Given the description of an element on the screen output the (x, y) to click on. 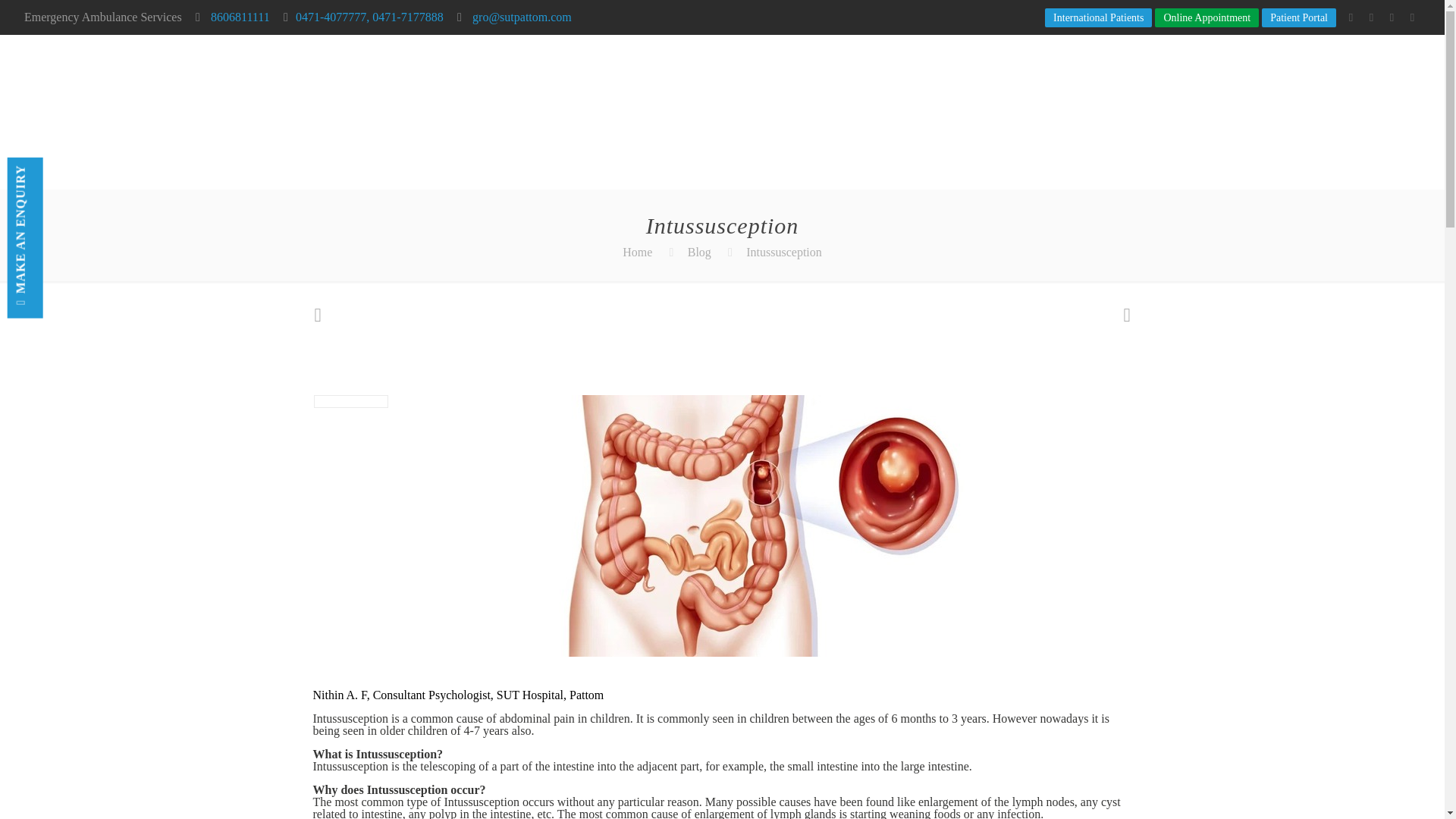
YouTube (1370, 17)
Patient Portal (1299, 17)
Facebook (1350, 17)
International Patients (1098, 17)
LinkedIn (1391, 17)
8606811111 (238, 16)
Instagram (1413, 17)
0471-4077777, 0471-7177888 (369, 16)
Online Appointment (1206, 17)
